Given the description of an element on the screen output the (x, y) to click on. 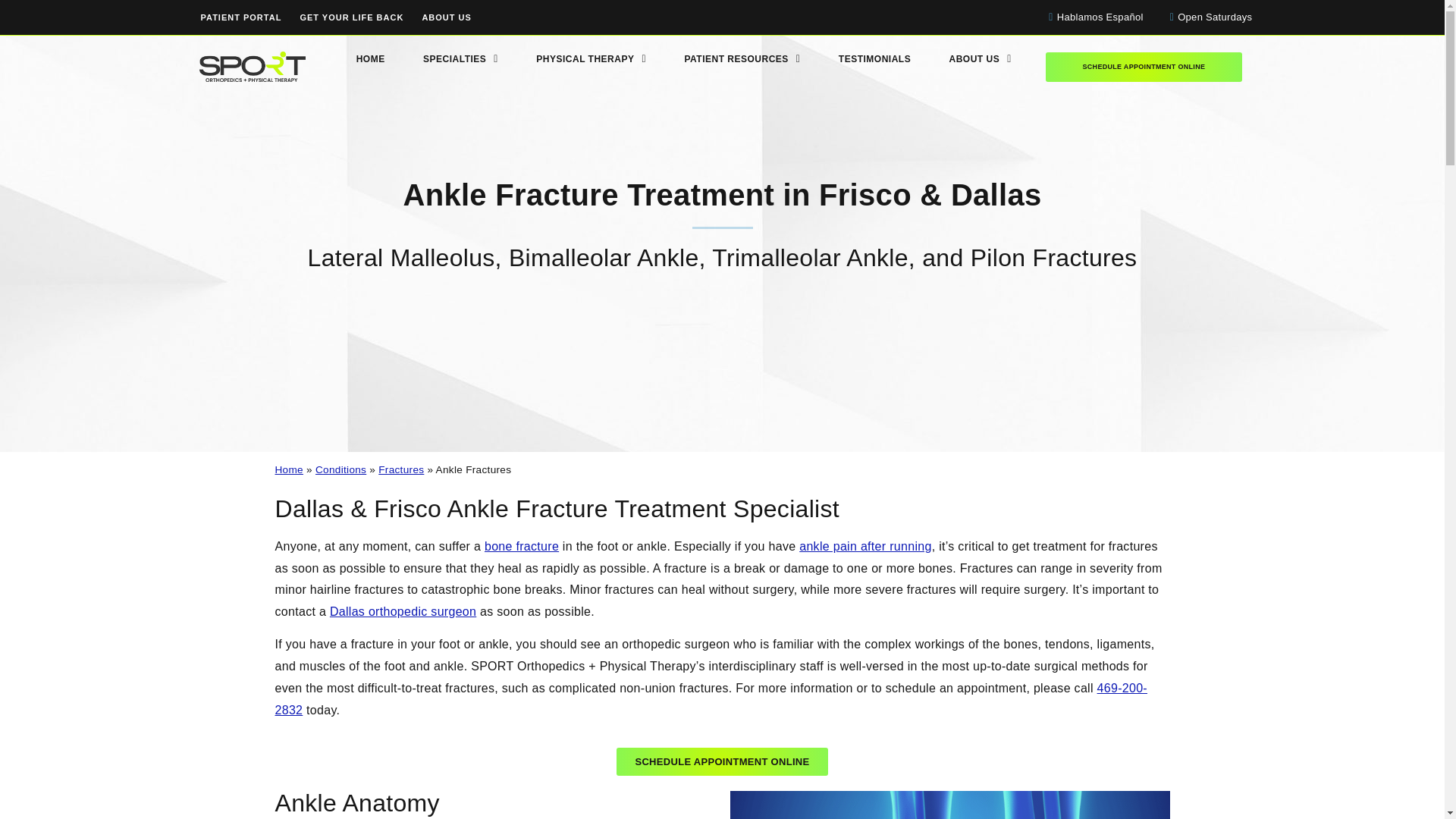
SPECIALTIES (460, 59)
PATIENT PORTAL (239, 17)
GET YOUR LIFE BACK (350, 17)
HOME (369, 59)
ABOUT US (446, 17)
